Given the description of an element on the screen output the (x, y) to click on. 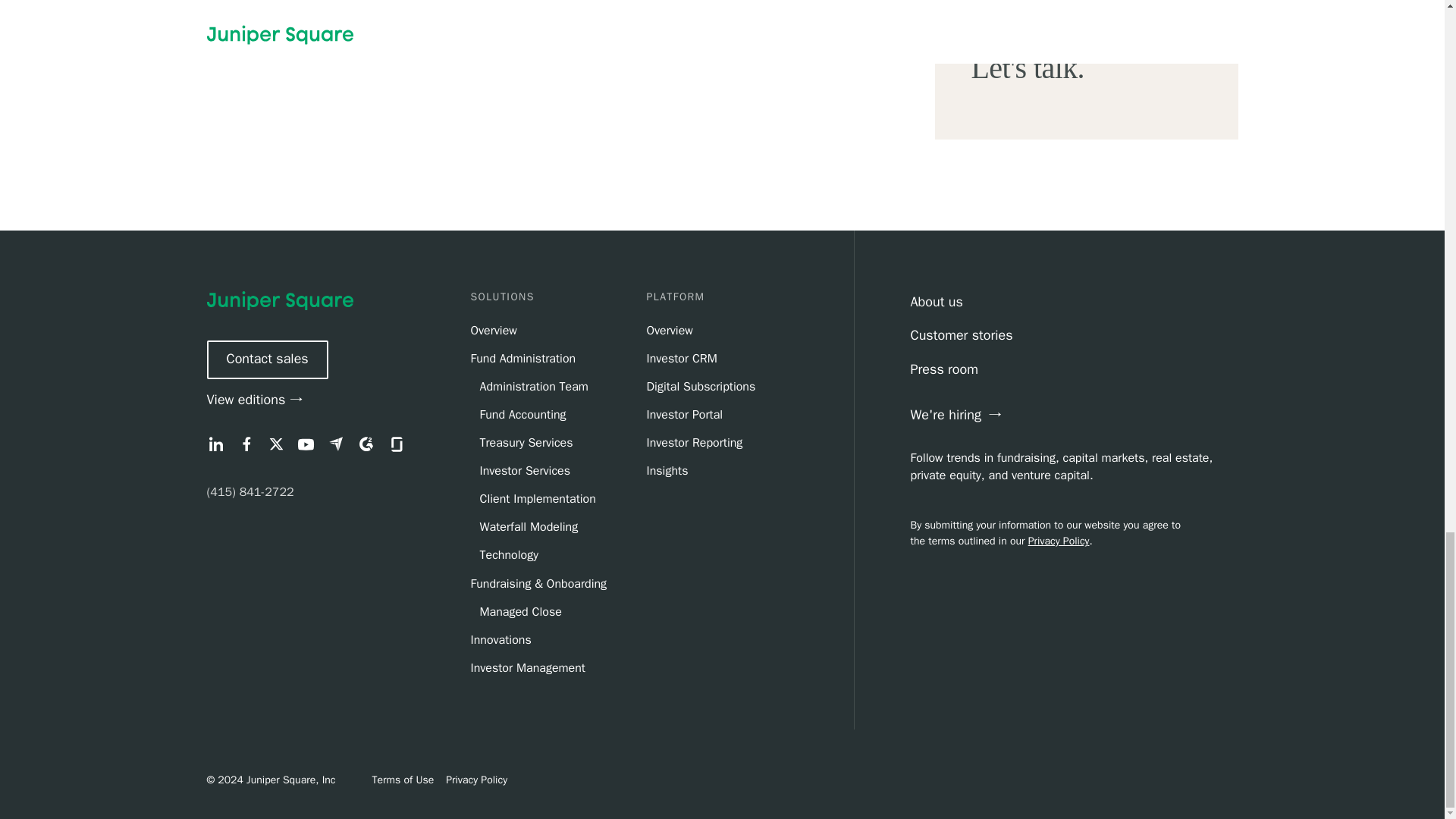
Call Juniper Square (250, 491)
